Given the description of an element on the screen output the (x, y) to click on. 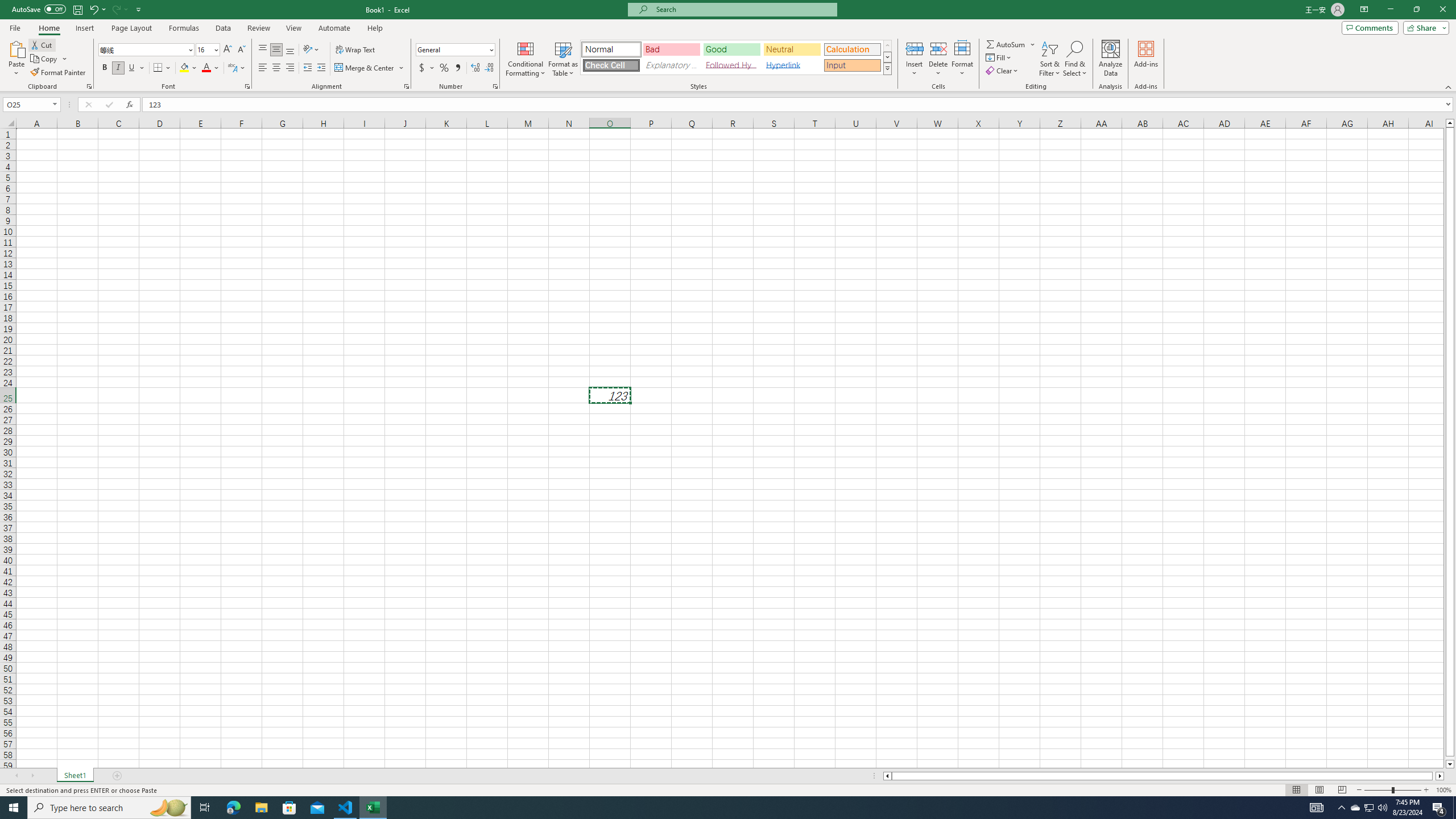
Wrap Text (355, 49)
Bottom Align (290, 49)
Followed Hyperlink (731, 65)
Orientation (311, 49)
Paste (16, 48)
Font Size (204, 49)
